Given the description of an element on the screen output the (x, y) to click on. 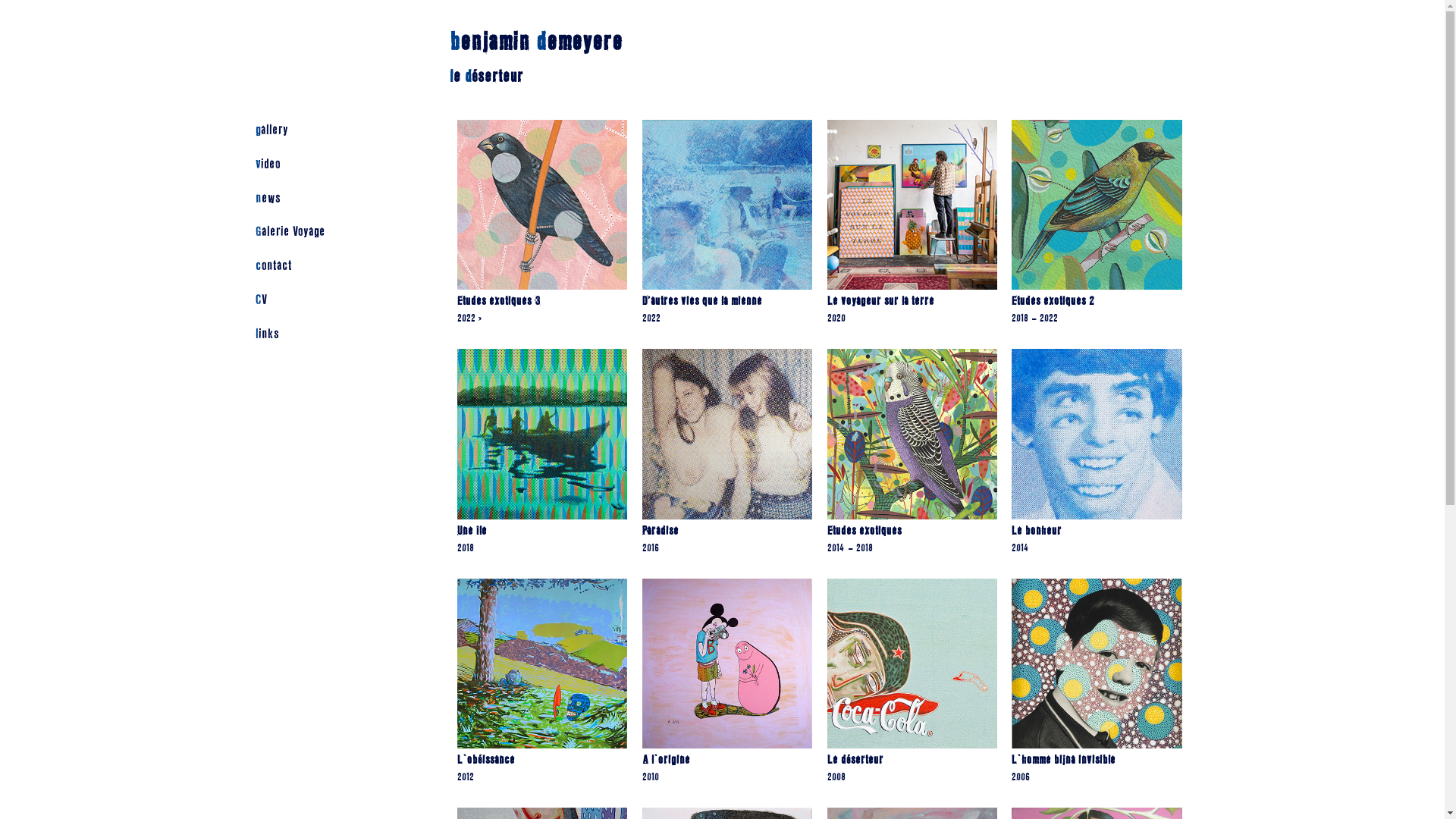
contact Element type: text (332, 266)
video Element type: text (332, 164)
Paradise
2016 Element type: text (727, 456)
D'autres vies que la mienne
2022 Element type: text (727, 227)
Le bonheur
2014 Element type: text (1096, 456)
gallery Element type: text (332, 130)
news Element type: text (332, 199)
Etudes exotiques 3
2022 > Element type: text (542, 227)
links Element type: text (332, 334)
Le voyageur sur la terre
2020 Element type: text (912, 227)
benjamin demeyere Element type: text (535, 41)
Galerie Voyage Element type: text (332, 232)
CV Element type: text (332, 300)
